Given the description of an element on the screen output the (x, y) to click on. 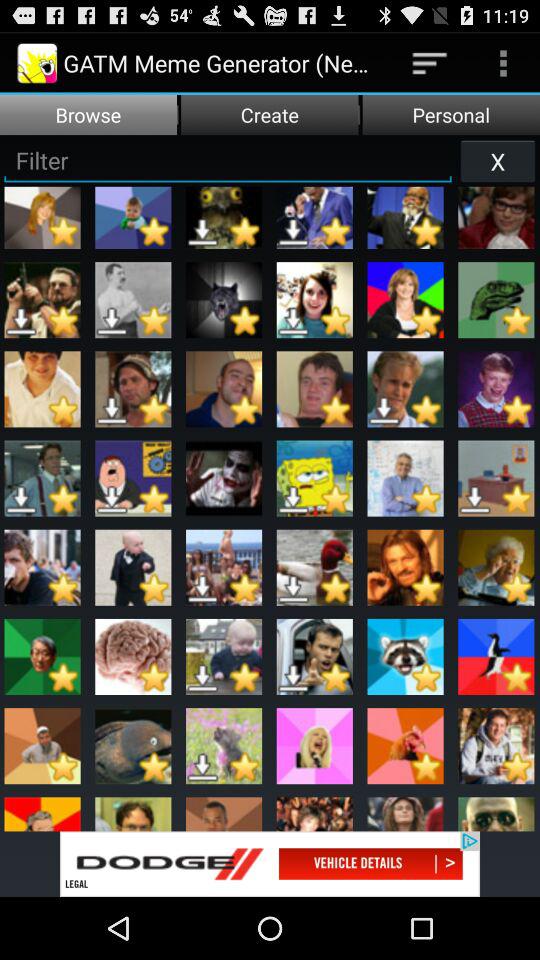
select add (270, 864)
